Given the description of an element on the screen output the (x, y) to click on. 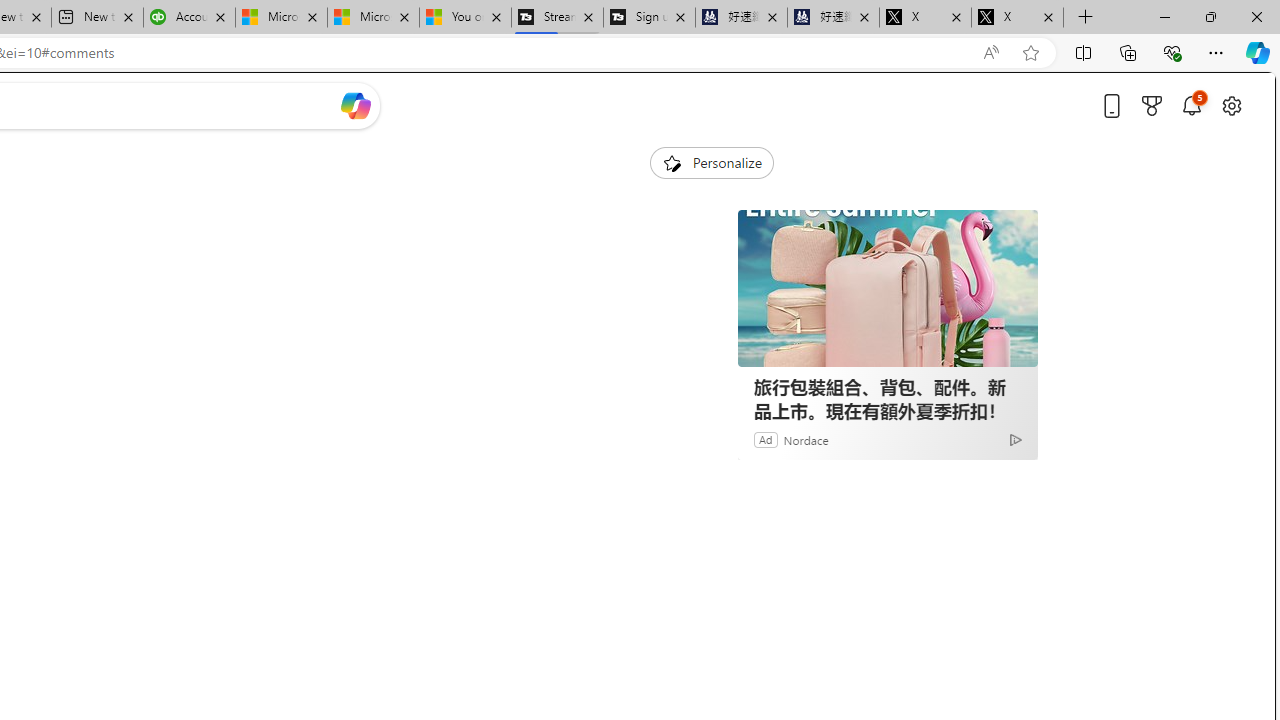
Open settings (1231, 105)
Streaming Coverage | T3 (557, 17)
Microsoft Start Sports (280, 17)
To get missing image descriptions, open the context menu. (671, 162)
Accounting Software for Accountants, CPAs and Bookkeepers (189, 17)
Microsoft rewards (1151, 105)
Notifications (1192, 105)
